Given the description of an element on the screen output the (x, y) to click on. 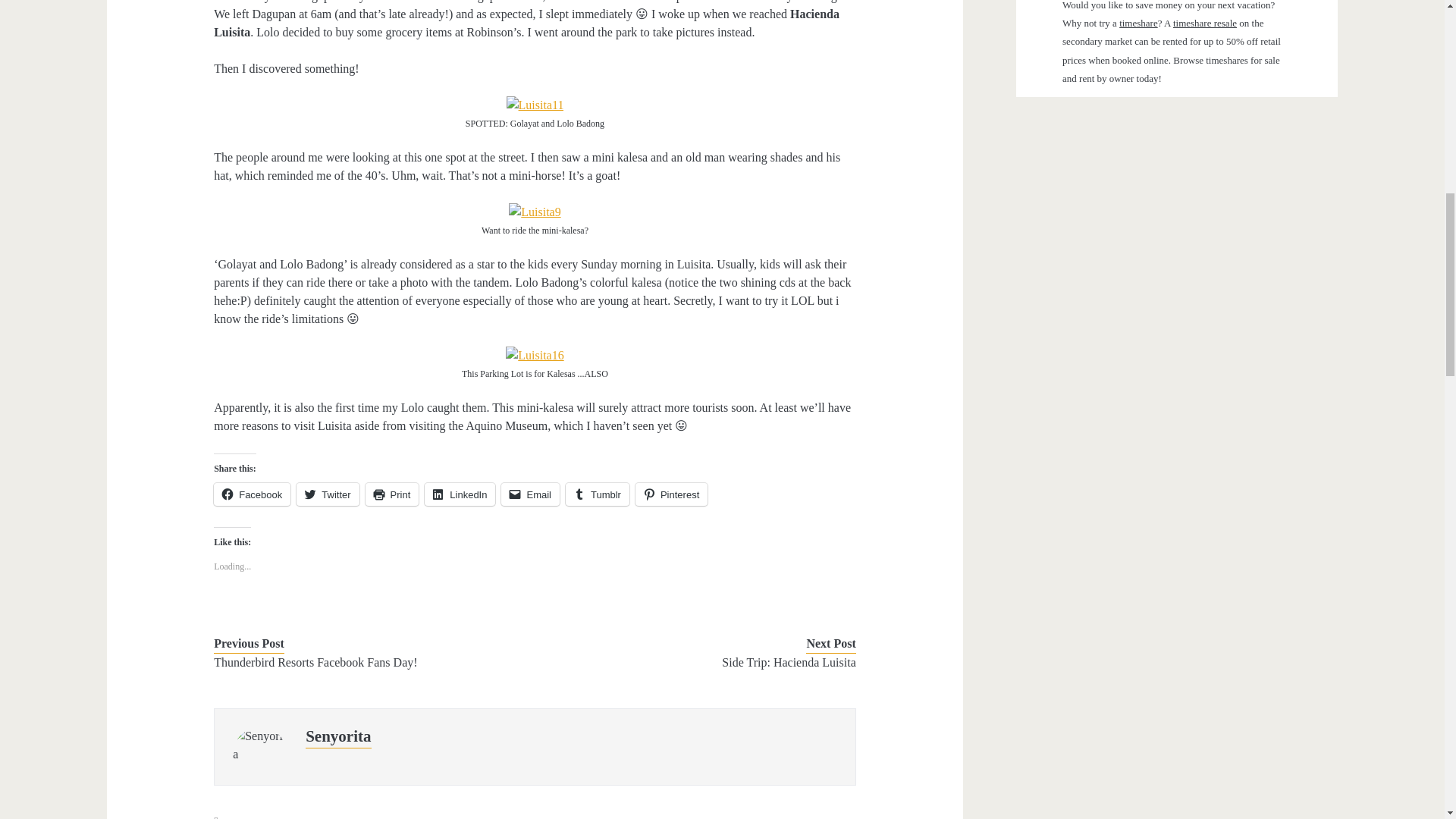
Facebook (251, 494)
Twitter (327, 494)
Click to share on Twitter (327, 494)
This Parking Lot is for Kalesas ALSO (534, 355)
Want to ride the mini-kalesa? (534, 212)
FEATURED (371, 817)
Click to share on Facebook (251, 494)
Luisita16 by micamyx, on Flickr (534, 354)
Email (529, 494)
Pinterest (670, 494)
